Given the description of an element on the screen output the (x, y) to click on. 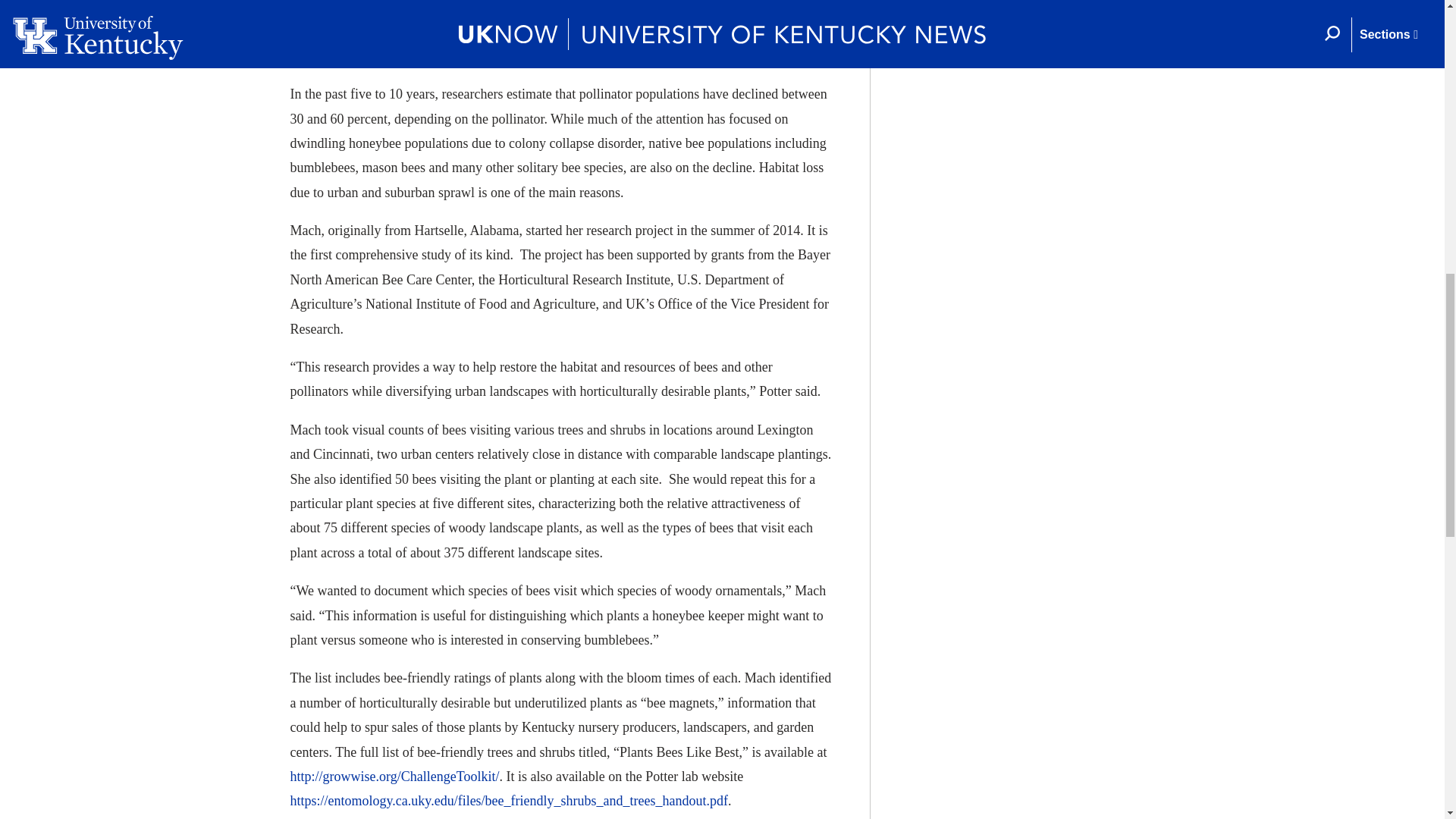
UK College of Agriculture, Food and Environment (555, 19)
